Given the description of an element on the screen output the (x, y) to click on. 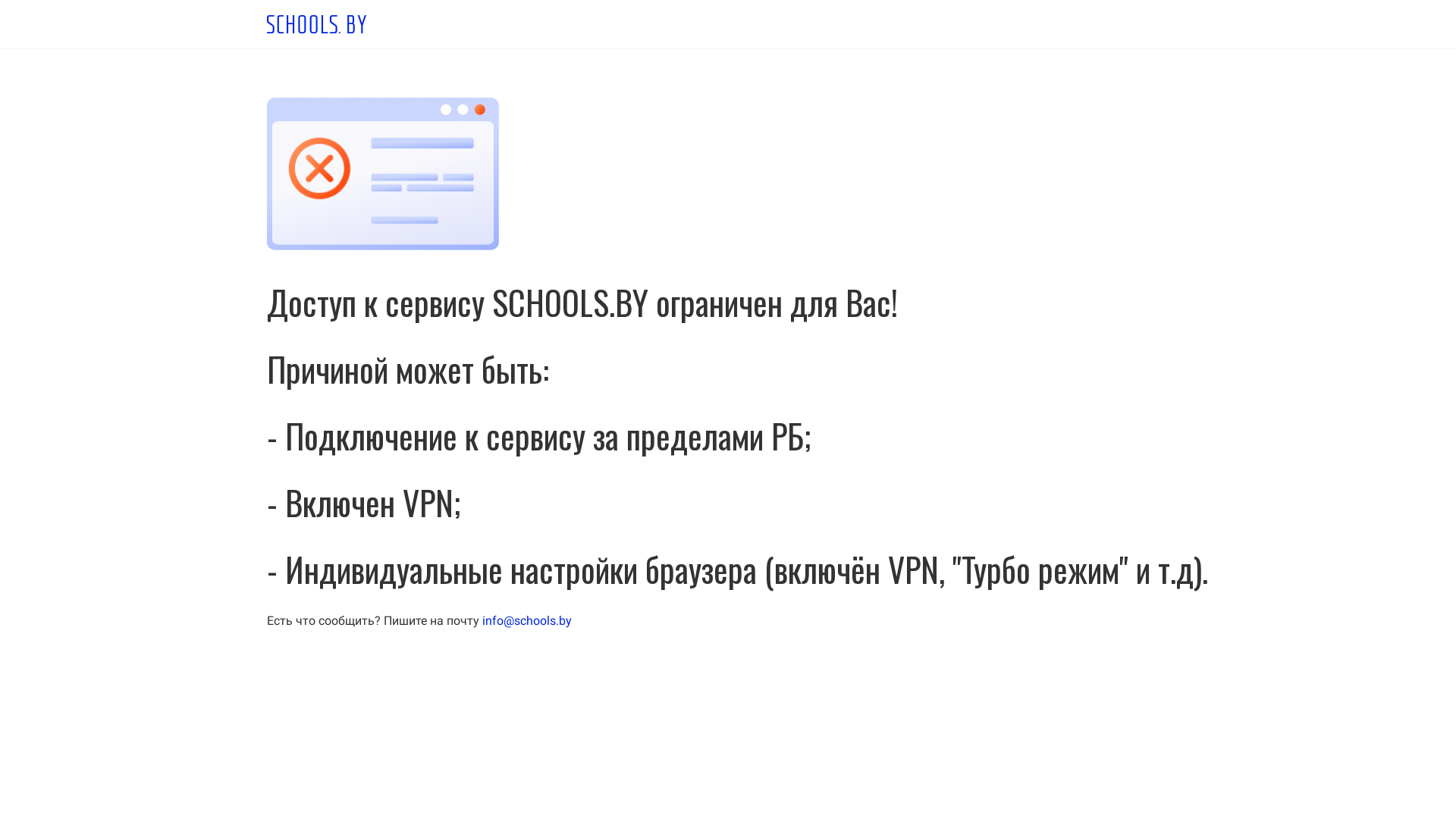
info@schools.by Element type: text (526, 620)
